Given the description of an element on the screen output the (x, y) to click on. 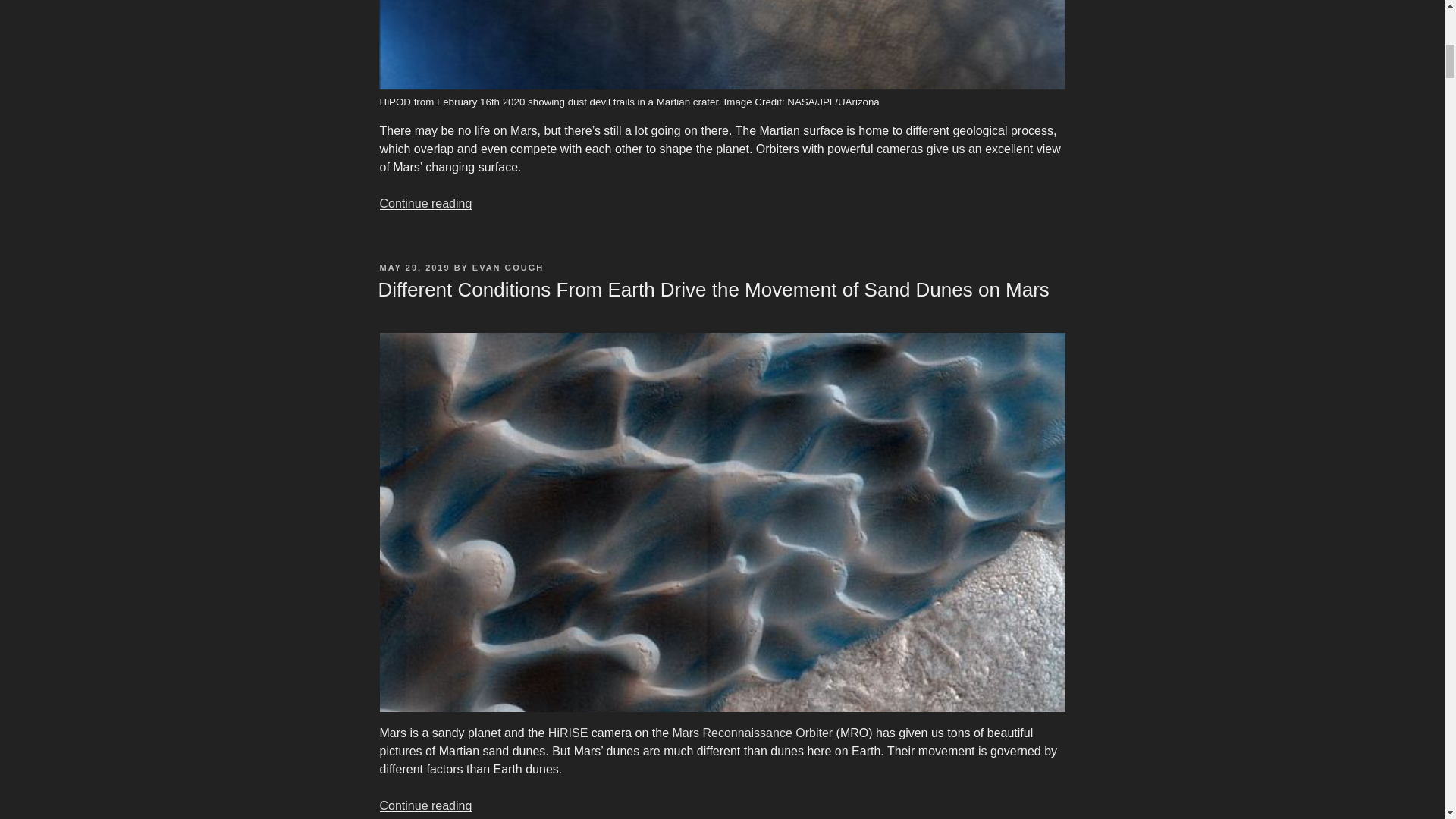
EVAN GOUGH (507, 266)
MAY 29, 2019 (413, 266)
Mars Reconnaissance Orbiter (751, 732)
HiRISE (568, 732)
